Given the description of an element on the screen output the (x, y) to click on. 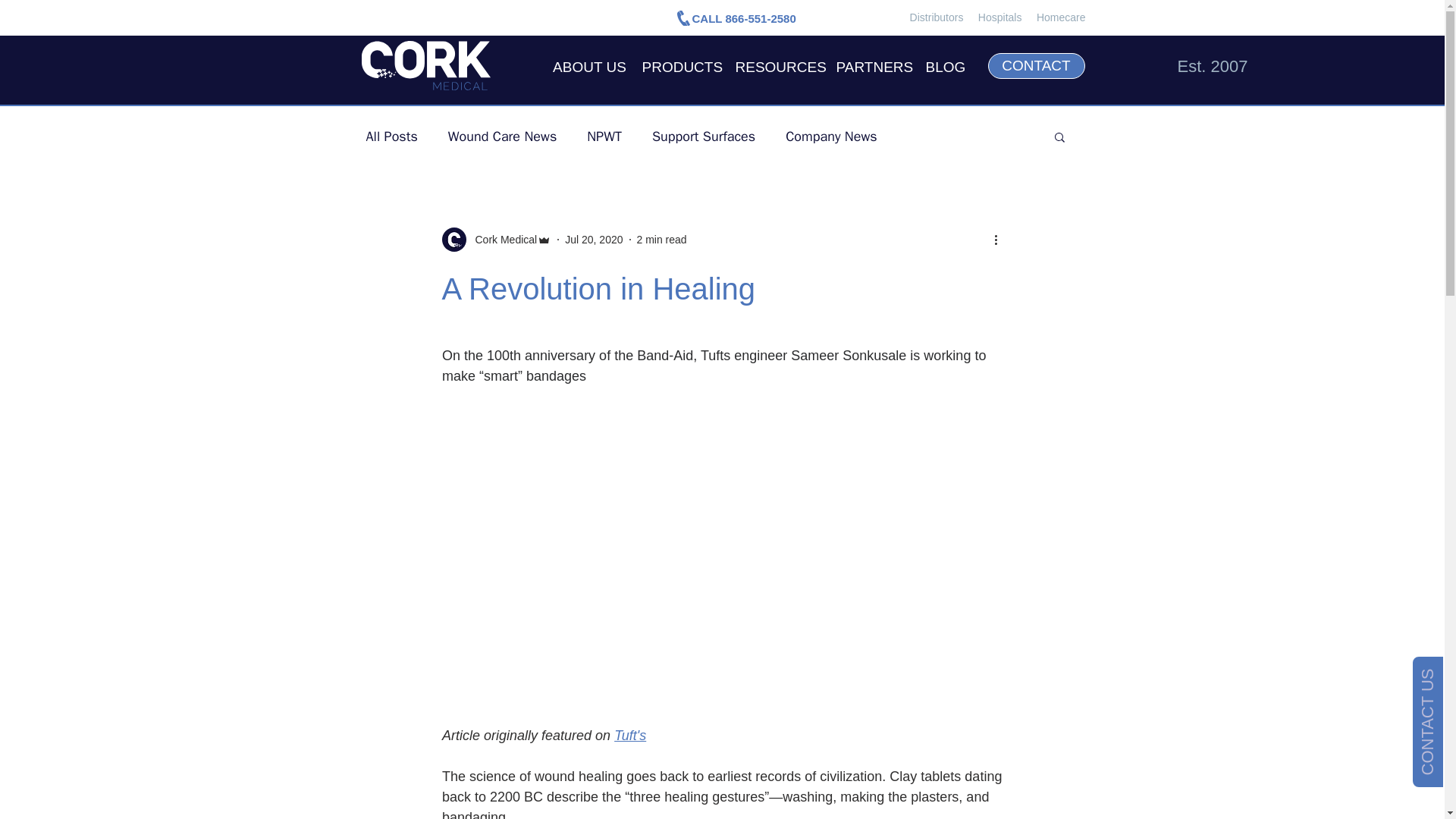
All Posts (390, 136)
Homecare (1061, 17)
ABOUT US (588, 66)
PRODUCTS (679, 66)
Support Surfaces (703, 136)
CALL 866-551-2580 (742, 18)
BLOG (944, 66)
Tuft's (630, 735)
Distributors (936, 17)
CONTACT (1035, 65)
Company News (831, 136)
Cork Medical (501, 239)
Hospitals (1000, 17)
Wound Care News (502, 136)
2 min read (662, 239)
